Given the description of an element on the screen output the (x, y) to click on. 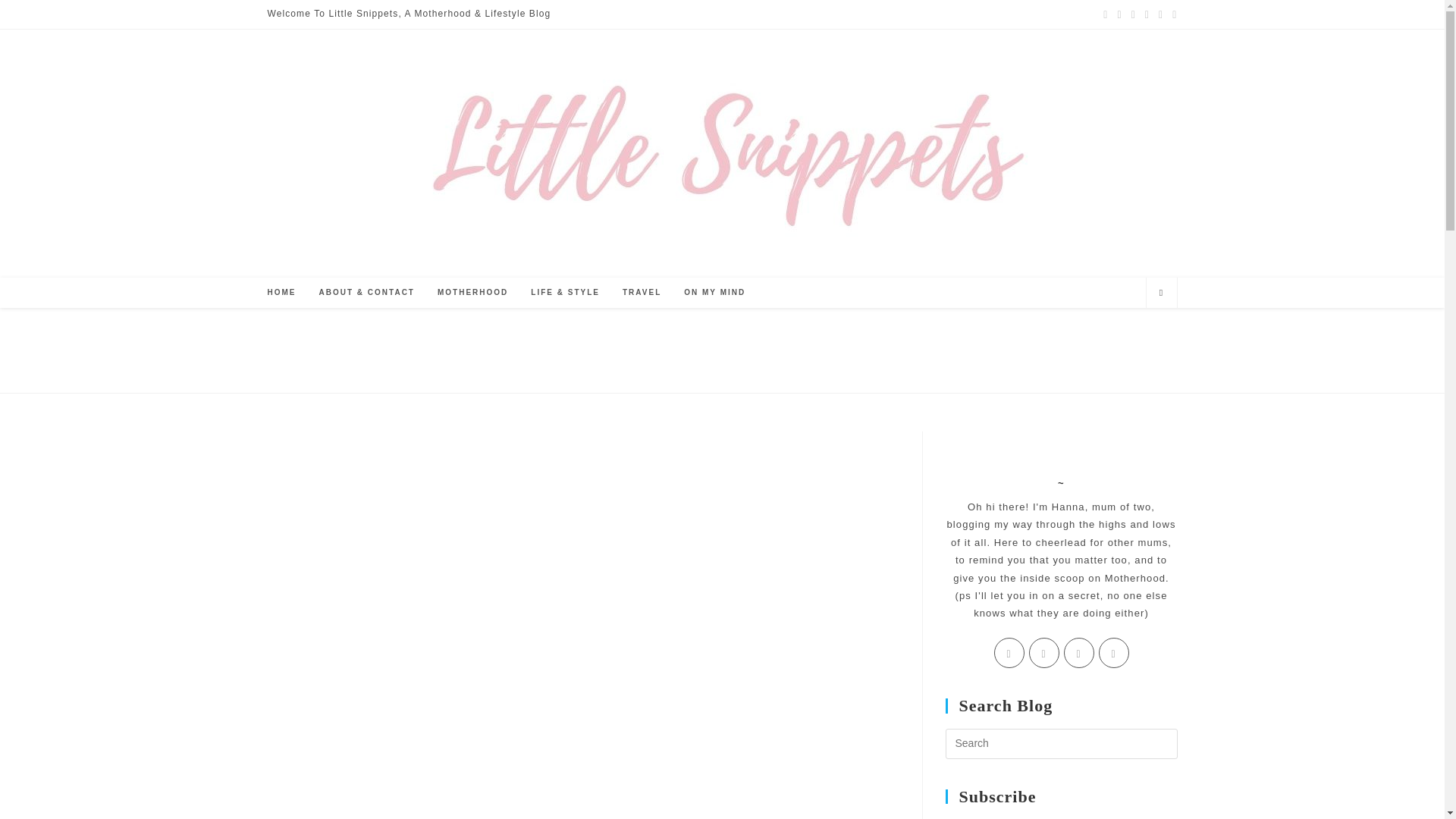
HOME (281, 292)
TRAVEL (641, 292)
ON MY MIND (714, 292)
MOTHERHOOD (472, 292)
